Given the description of an element on the screen output the (x, y) to click on. 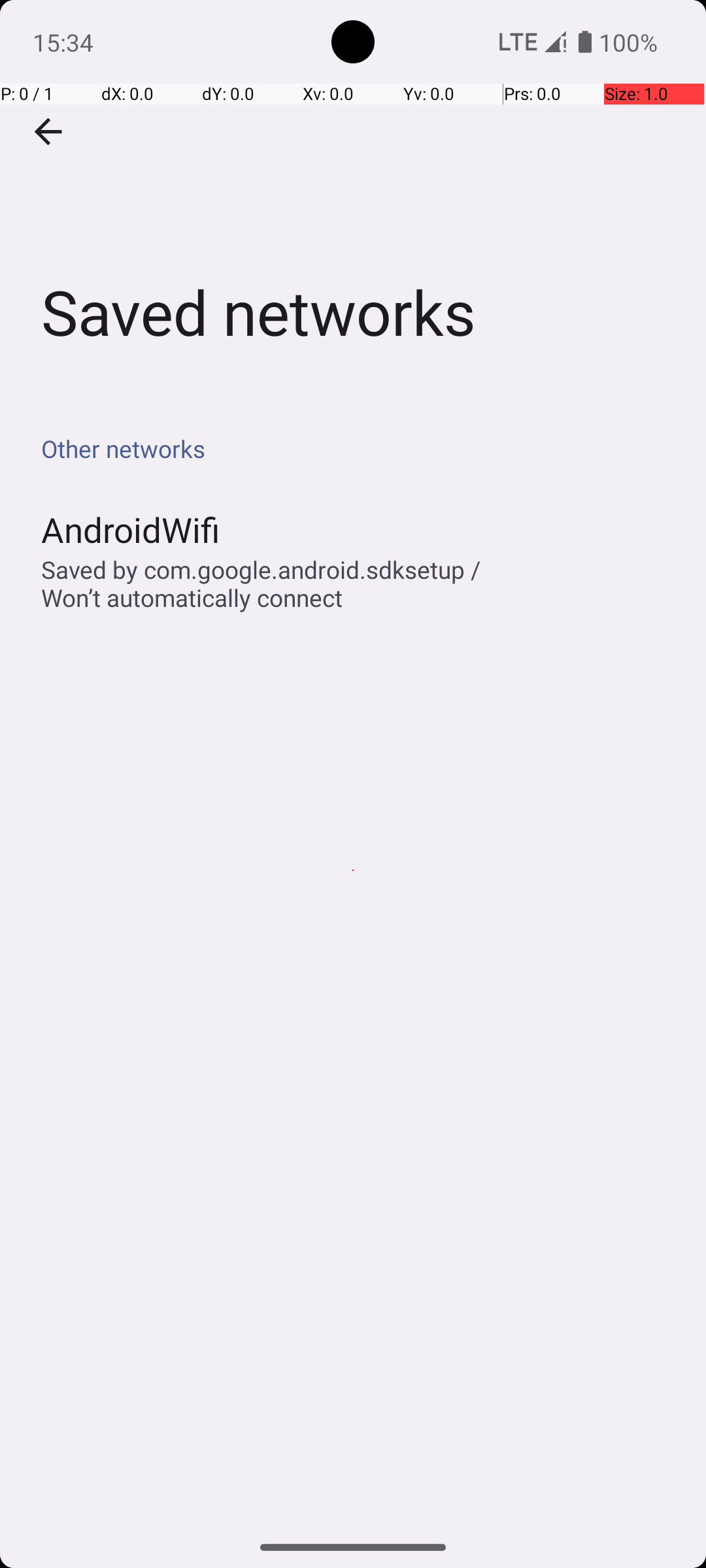
Saved networks Element type: android.widget.FrameLayout (353, 195)
AndroidWifi,Saved by com.google.android.sdksetup / Won’t automatically connect,Open network Element type: android.widget.LinearLayout (353, 559)
Other networks Element type: android.widget.TextView (359, 448)
AndroidWifi Element type: android.widget.TextView (130, 529)
Saved by com.google.android.sdksetup / Won’t automatically connect Element type: android.widget.TextView (283, 583)
